Given the description of an element on the screen output the (x, y) to click on. 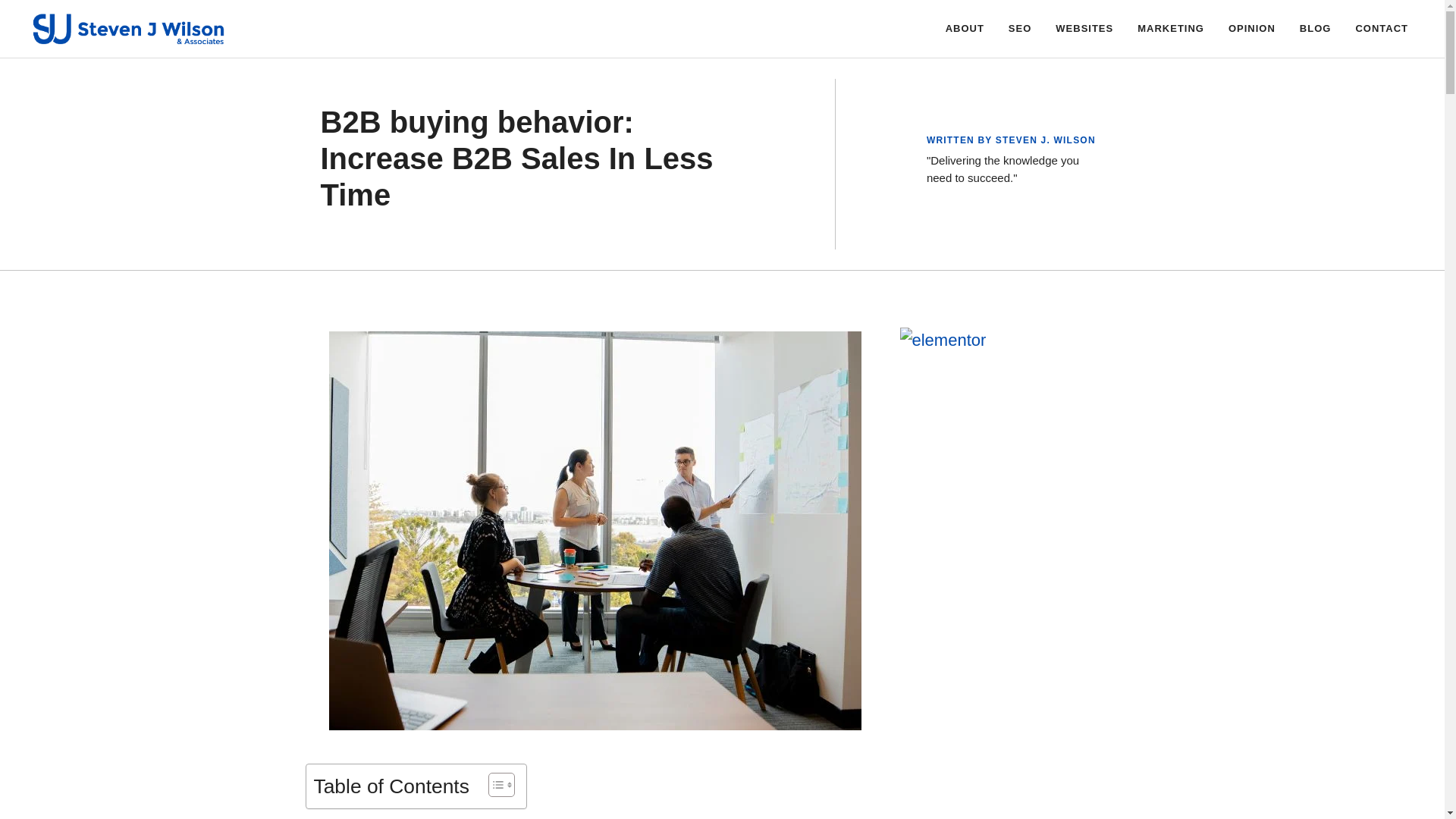
CONTACT (1381, 28)
BLOG (1315, 28)
SEO (1019, 28)
MARKETING (1170, 28)
WEBSITES (1084, 28)
OPINION (1251, 28)
ABOUT (964, 28)
WRITTEN BY STEVEN J. WILSON (1011, 140)
